Given the description of an element on the screen output the (x, y) to click on. 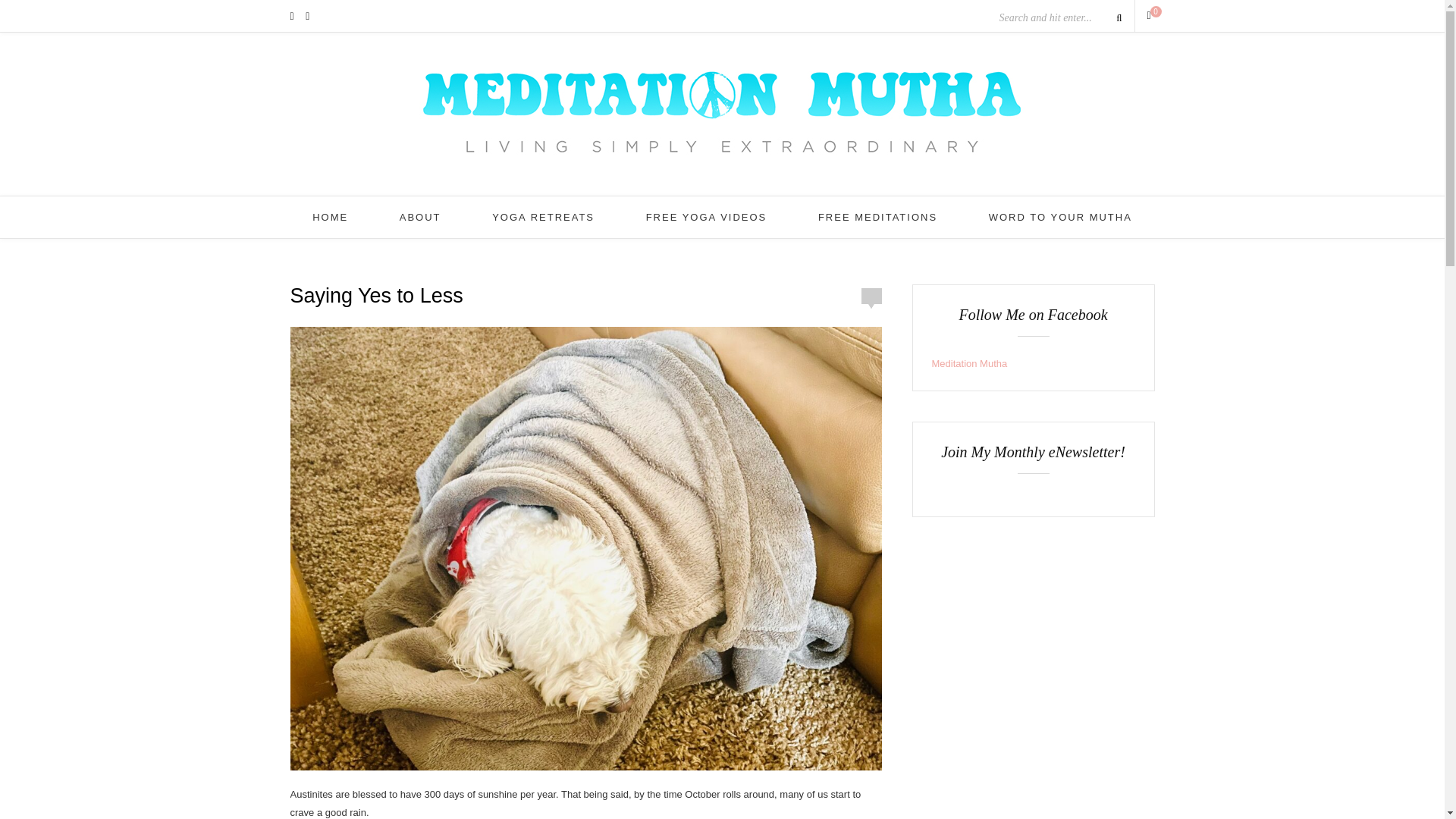
FREE YOGA VIDEOS (706, 217)
HOME (330, 217)
WORD TO YOUR MUTHA (1060, 217)
YOGA RETREATS (543, 217)
0 (1150, 15)
ABOUT (419, 217)
View your shopping cart (1150, 15)
Meditation Mutha (969, 363)
FREE MEDITATIONS (877, 217)
